Given the description of an element on the screen output the (x, y) to click on. 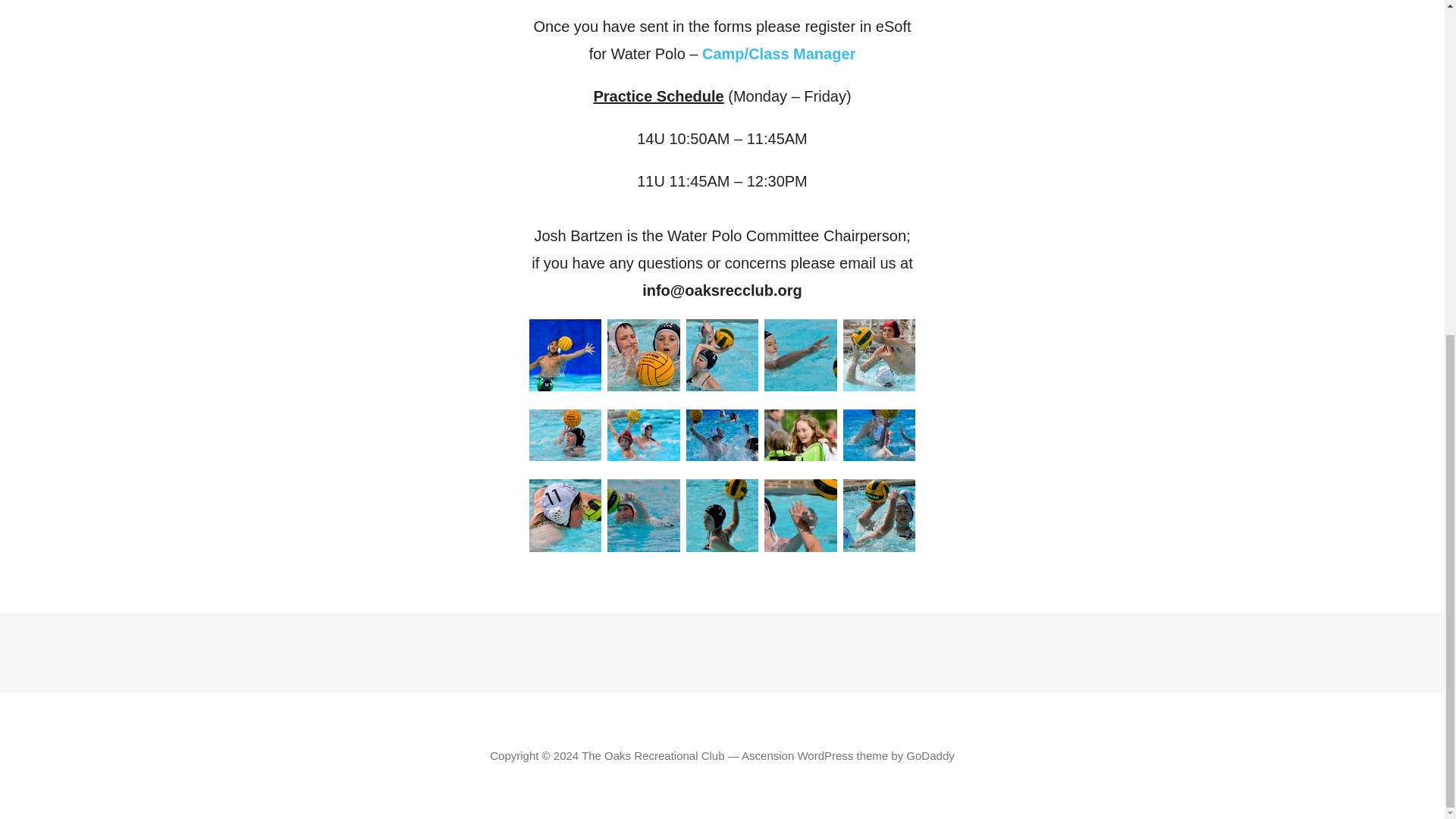
GoDaddy (929, 755)
